Given the description of an element on the screen output the (x, y) to click on. 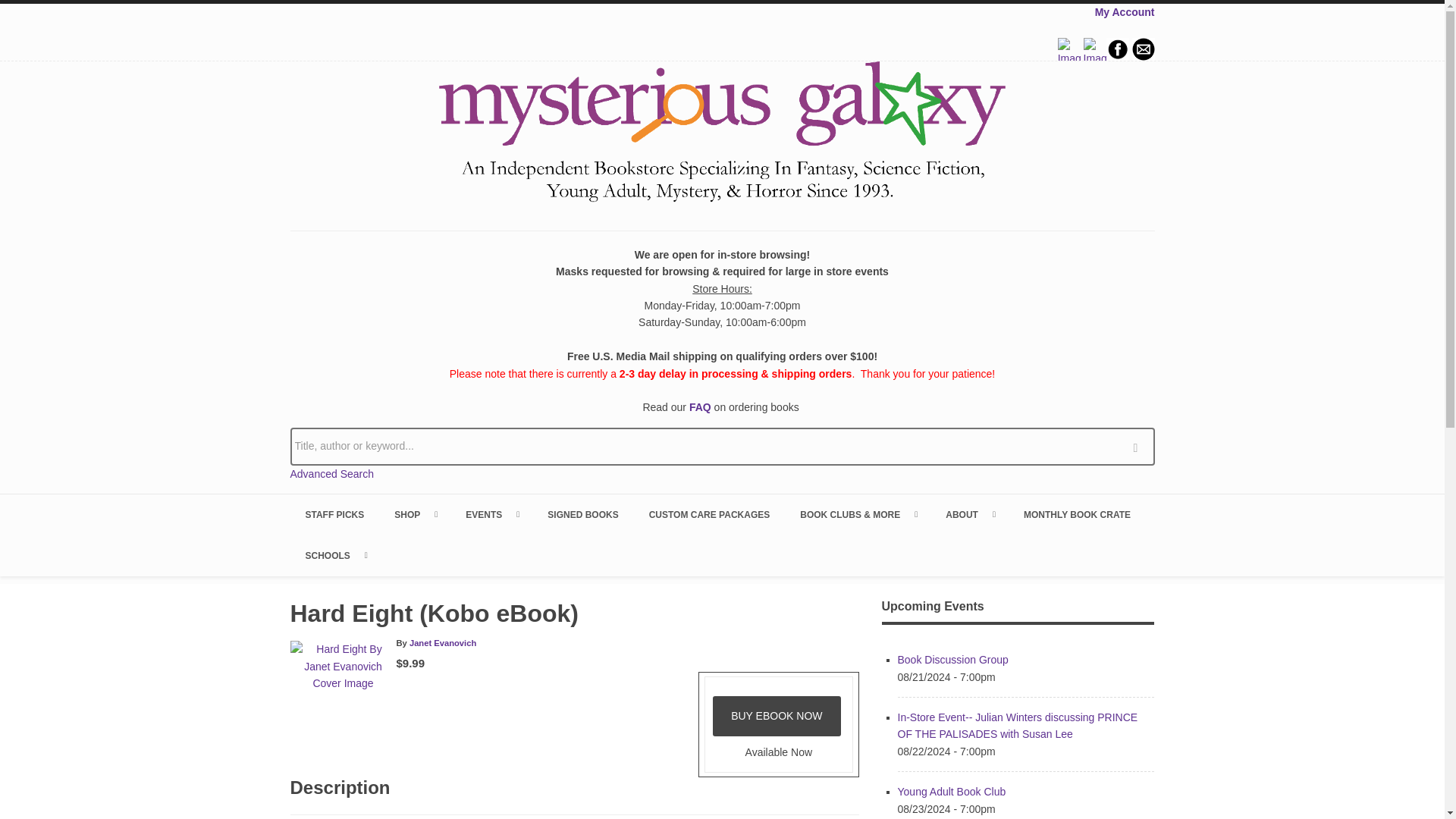
Advanced Search (331, 473)
STAFF PICKS (333, 514)
Buy eBook Now (776, 715)
EVENTS (490, 514)
Title, author or keyword... (721, 446)
FAQ (699, 407)
My Account (1124, 11)
SHOP (413, 514)
Home (722, 134)
